Given the description of an element on the screen output the (x, y) to click on. 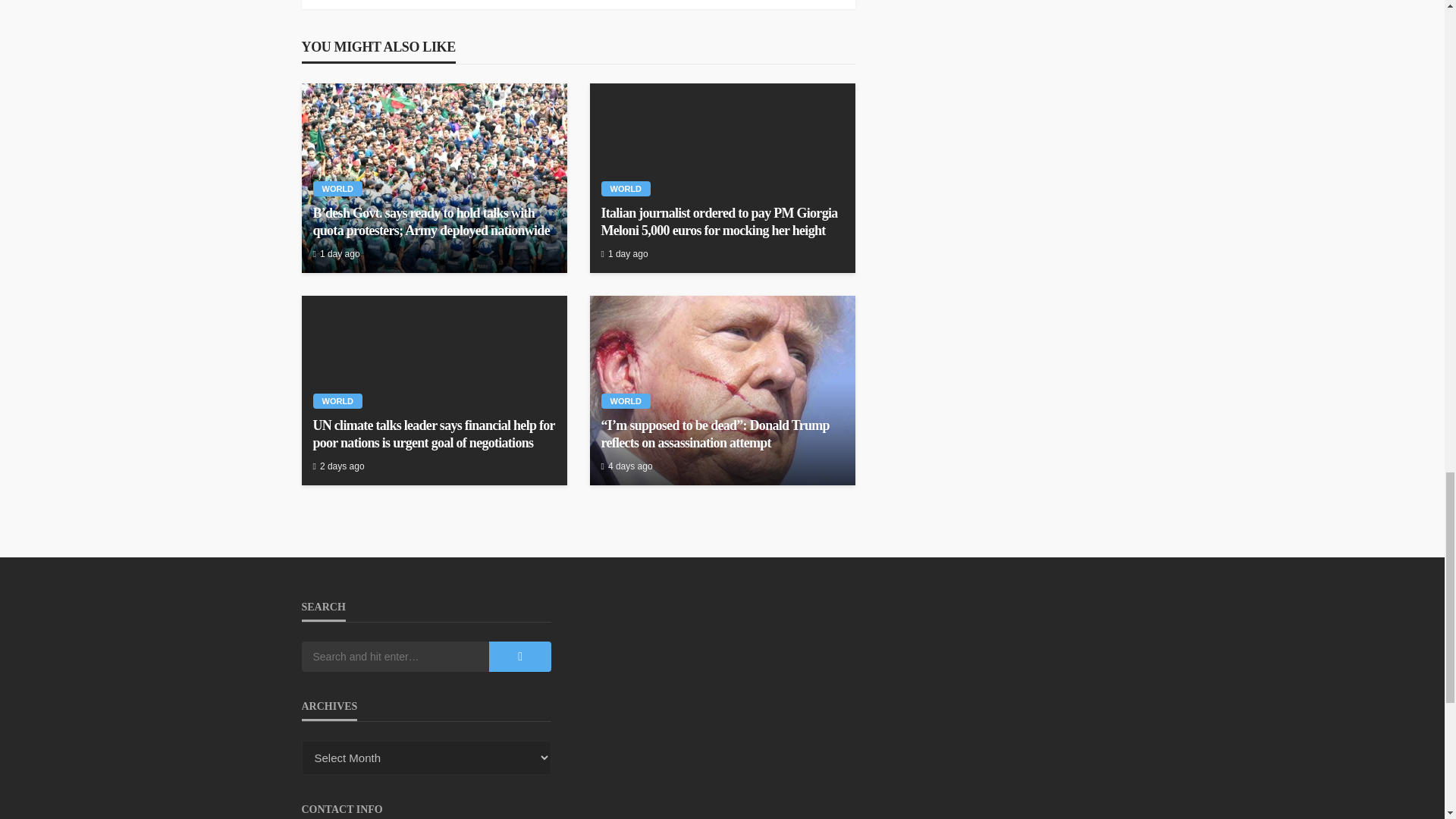
World (337, 188)
